Given the description of an element on the screen output the (x, y) to click on. 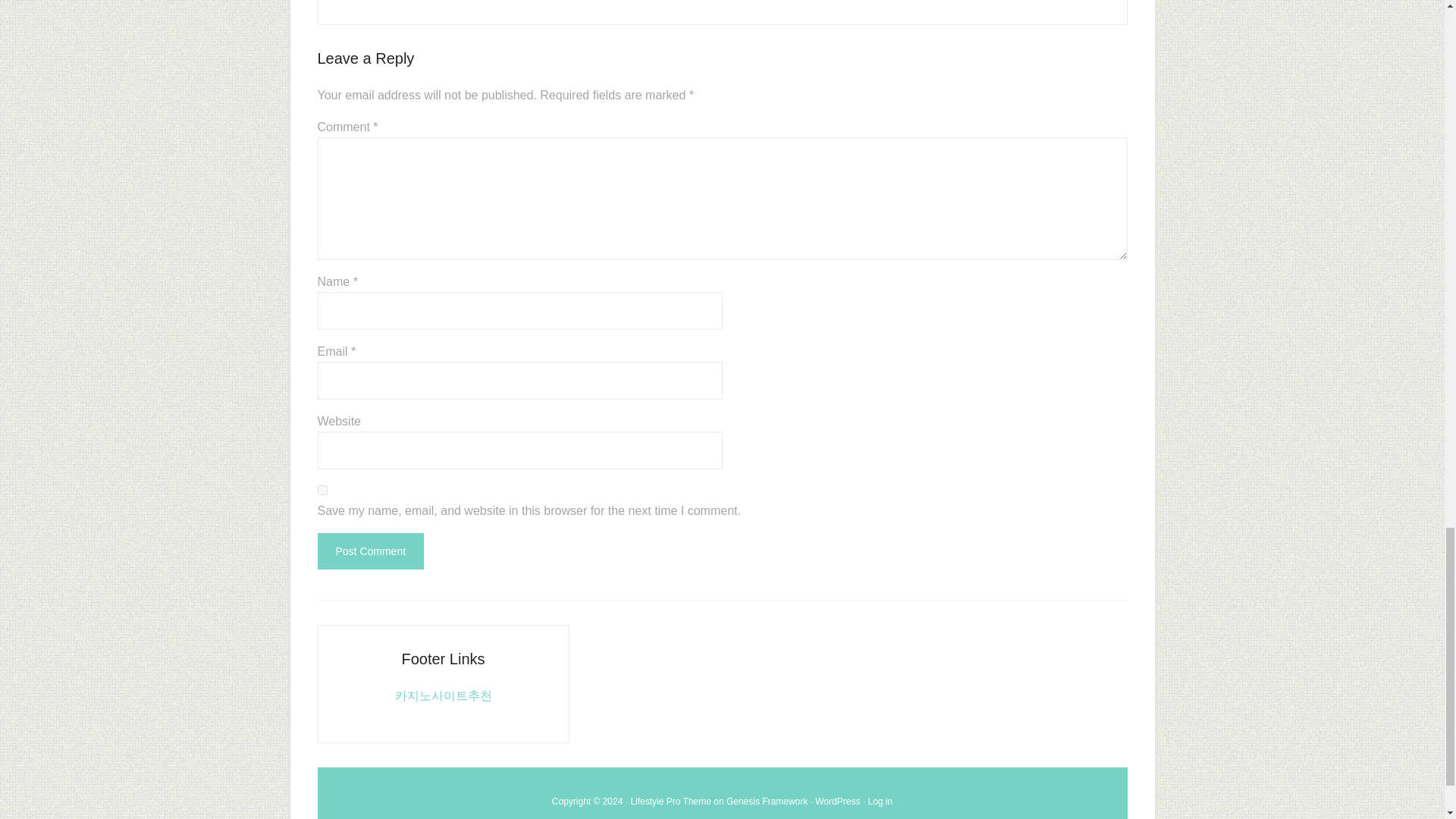
Log in (879, 801)
Genesis Framework (767, 801)
Post Comment (370, 551)
WordPress (837, 801)
Lifestyle Pro Theme (670, 801)
yes (321, 490)
Post Comment (370, 551)
